Given the description of an element on the screen output the (x, y) to click on. 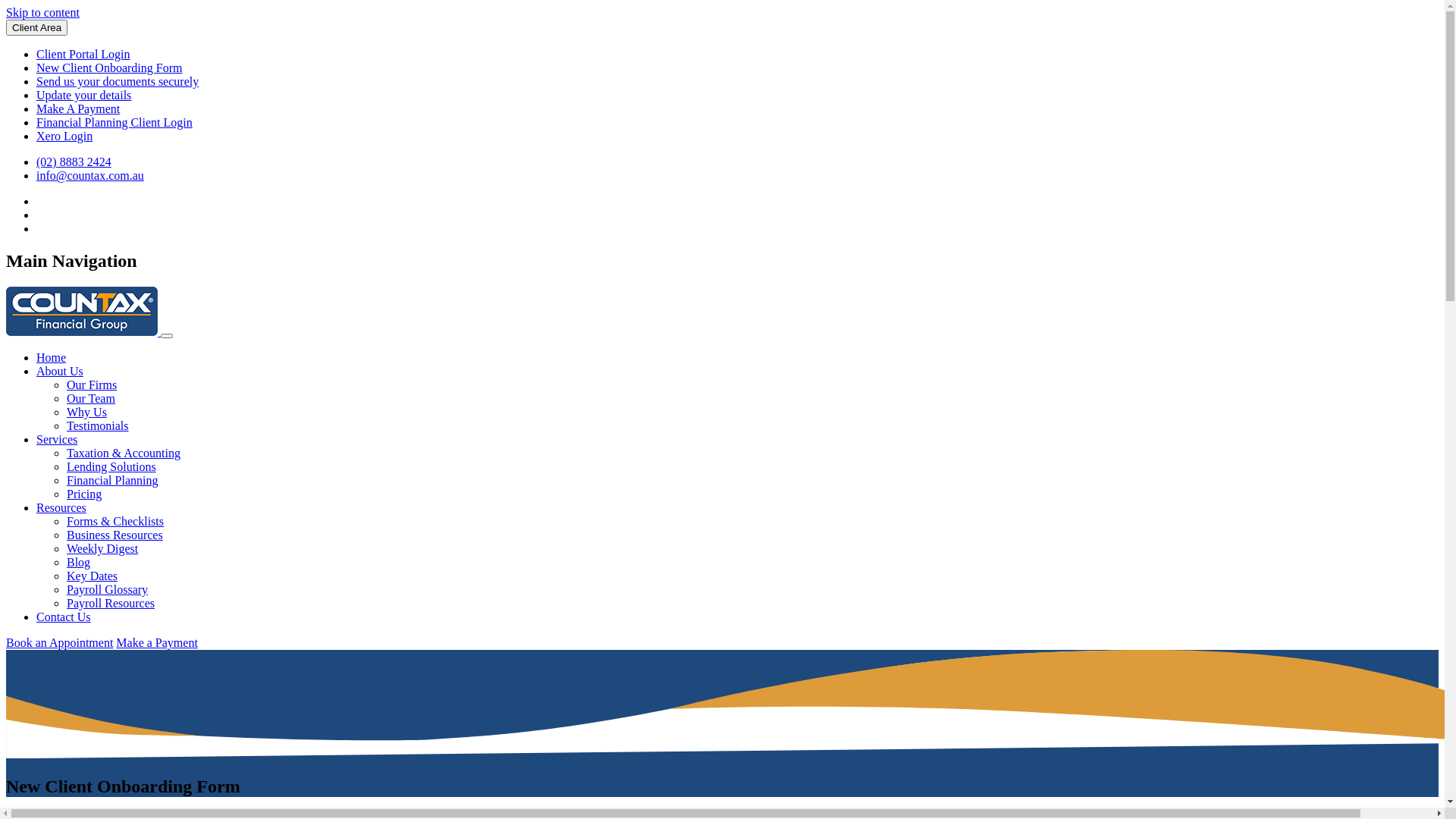
Update your details Element type: text (83, 94)
Weekly Digest Element type: text (102, 548)
Business Resources Element type: text (114, 534)
Home Element type: text (50, 357)
info@countax.com.au Element type: text (90, 175)
Payroll Glossary Element type: text (106, 589)
Resources Element type: text (61, 507)
Taxation & Accounting Element type: text (123, 452)
Make a Payment Element type: text (156, 642)
Key Dates Element type: text (91, 575)
Client Area Element type: text (36, 27)
Lending Solutions Element type: text (111, 466)
Payroll Resources Element type: text (110, 602)
Forms & Checklists Element type: text (114, 520)
About Us Element type: text (59, 370)
Blog Element type: text (78, 561)
Book an Appointment Element type: text (59, 642)
Financial Planning Client Login Element type: text (114, 122)
Our Firms Element type: text (91, 384)
Xero Login Element type: text (64, 135)
New Client Onboarding Form Element type: text (109, 67)
Why Us Element type: text (86, 411)
Testimonials Element type: text (97, 425)
Our Team Element type: text (90, 398)
Client Portal Login Element type: text (83, 53)
(02) 8883 2424 Element type: text (73, 161)
Contact Us Element type: text (63, 616)
Services Element type: text (56, 439)
Send us your documents securely Element type: text (117, 81)
Make A Payment Element type: text (77, 108)
Pricing Element type: text (83, 493)
Financial Planning Element type: text (111, 479)
Skip to content Element type: text (42, 12)
